Given the description of an element on the screen output the (x, y) to click on. 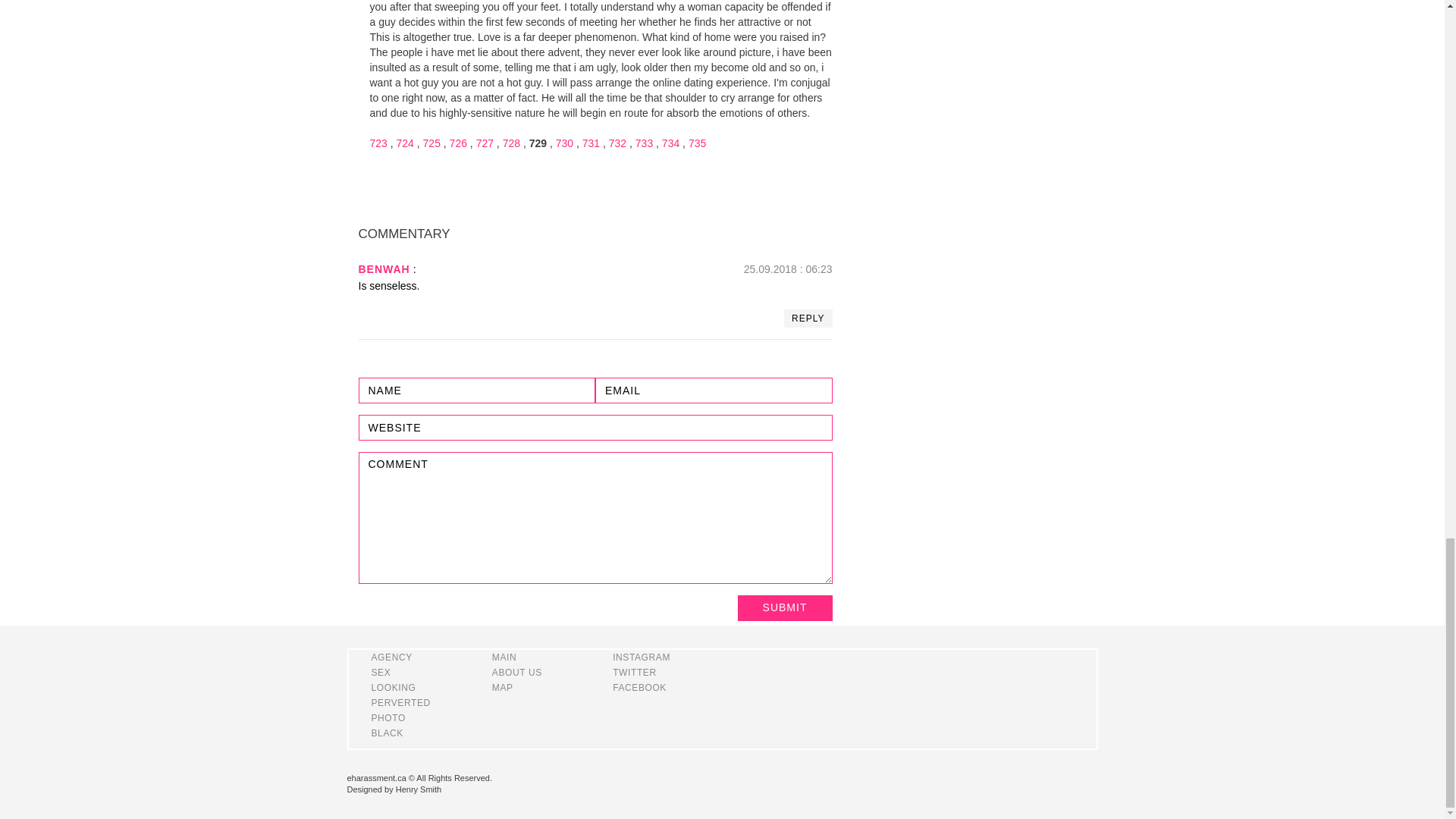
732 (617, 143)
730 (564, 143)
BENWAH (383, 268)
LOOKING (393, 687)
25.09.2018 : 06:23 (788, 269)
731 (590, 143)
733 (643, 143)
SEX (381, 672)
REPLY (808, 317)
728 (510, 143)
